Given the description of an element on the screen output the (x, y) to click on. 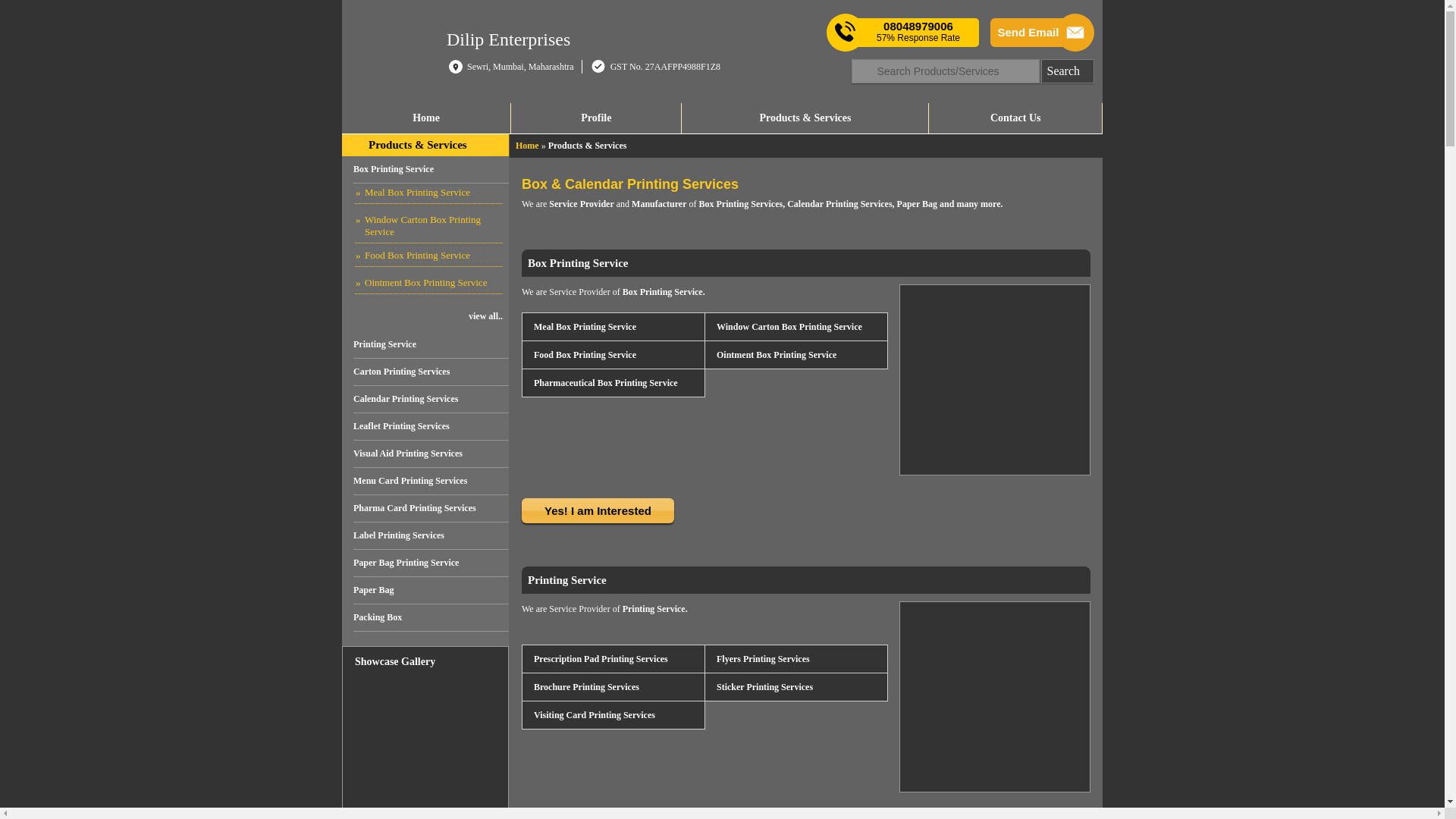
Brochure Printing Services (585, 686)
Food Box Printing Service (584, 354)
Home (426, 118)
Profile (596, 118)
Sticker Printing Services (764, 686)
Flyers Printing Services (762, 658)
Contact Us (1015, 118)
Send SMS Free (917, 32)
Pharmaceutical Box Printing Service (604, 382)
Dilip Enterprises (508, 38)
